Given the description of an element on the screen output the (x, y) to click on. 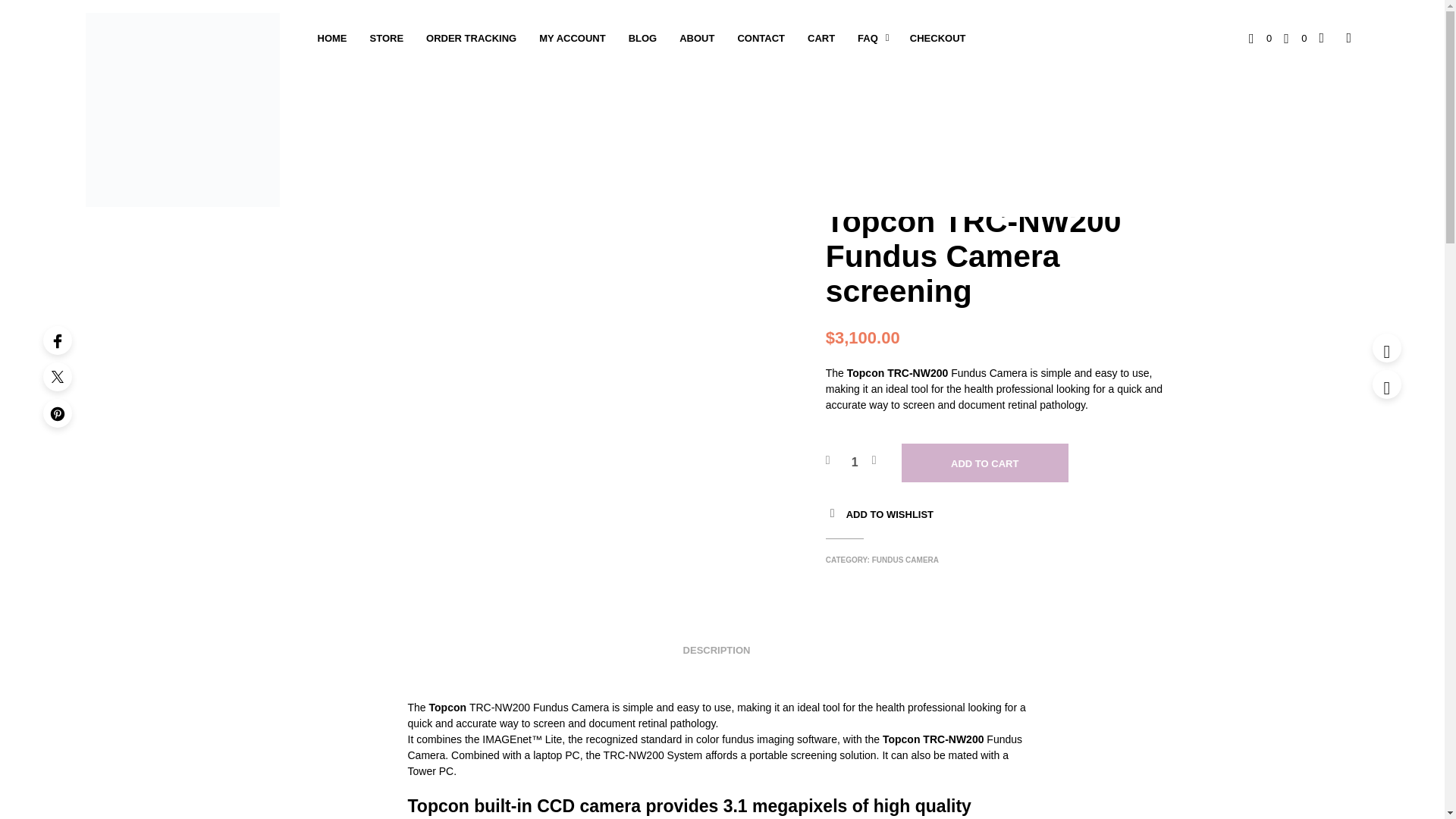
Qty (855, 462)
STORE (386, 38)
HOME (836, 152)
ORDER TRACKING (470, 38)
DESCRIPTION (716, 645)
0 (1295, 37)
buy,sale and consulting ophthalmic equipments (181, 110)
FUNDUS CAMERA (945, 152)
ADD TO CART (984, 462)
CART (820, 38)
ABOUT (696, 38)
THE SHOP (880, 152)
BLOG (642, 38)
1 (855, 462)
FAQ (867, 38)
